Given the description of an element on the screen output the (x, y) to click on. 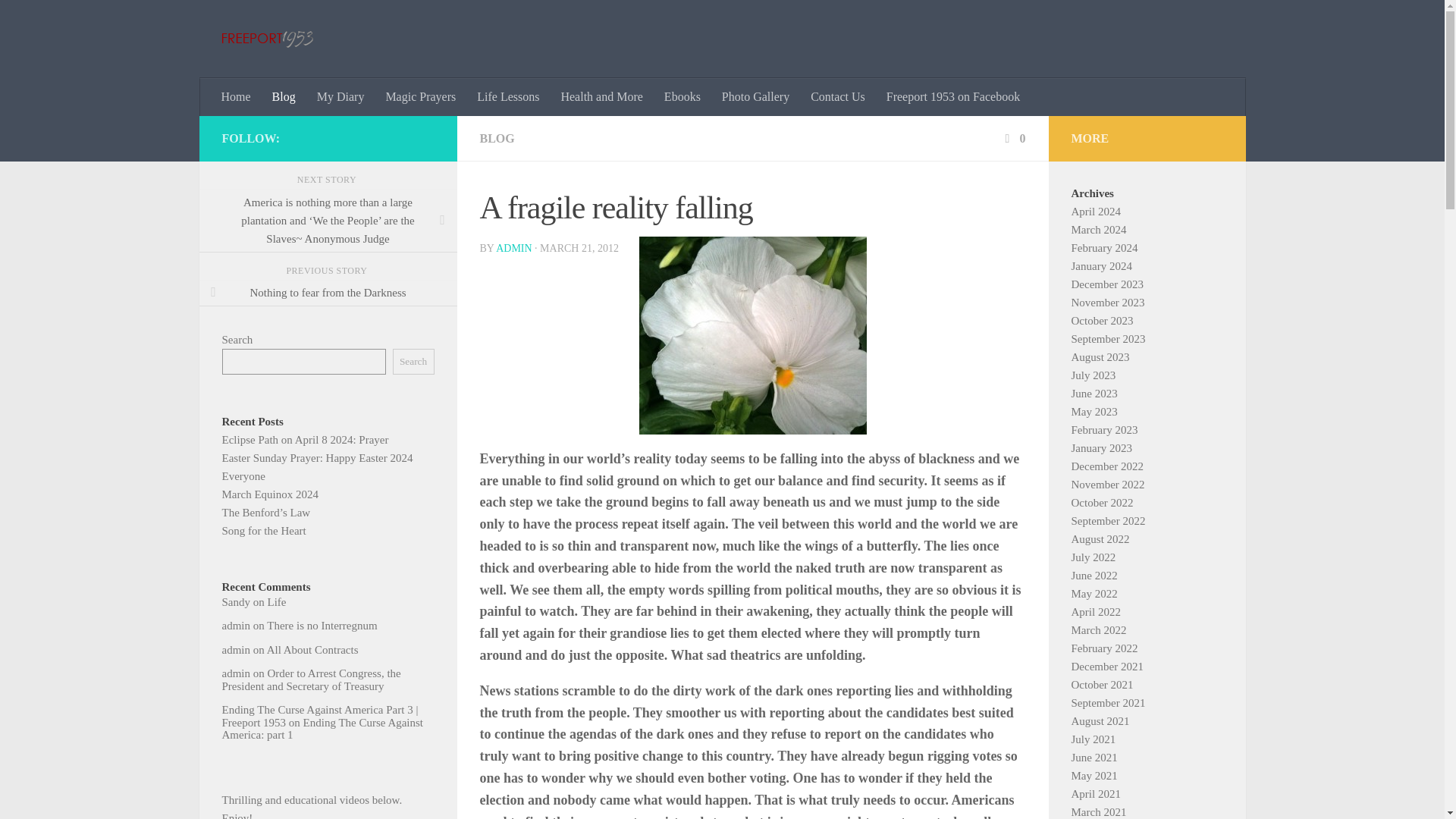
BLOG (496, 137)
Magic Prayers (419, 96)
Freeport 1953 on Facebook (953, 96)
Skip to content (59, 20)
Ebooks (682, 96)
Blog (283, 96)
Posts by admin (513, 247)
Health and More (601, 96)
Photo Gallery (755, 96)
Home (236, 96)
0 (1013, 137)
My Diary (340, 96)
Life Lessons (507, 96)
Contact Us (837, 96)
ADMIN (513, 247)
